Given the description of an element on the screen output the (x, y) to click on. 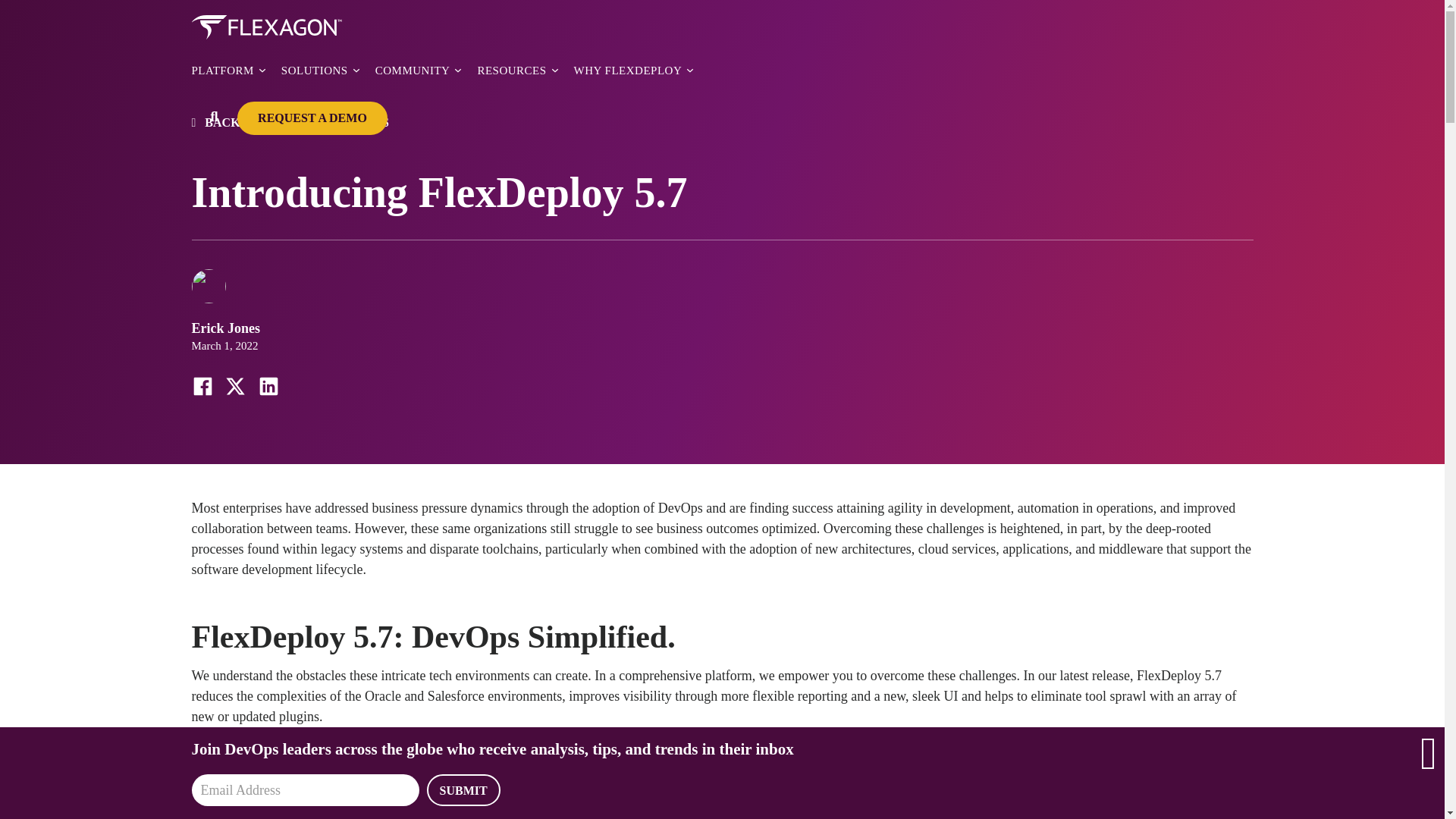
Submit (462, 789)
